Given the description of an element on the screen output the (x, y) to click on. 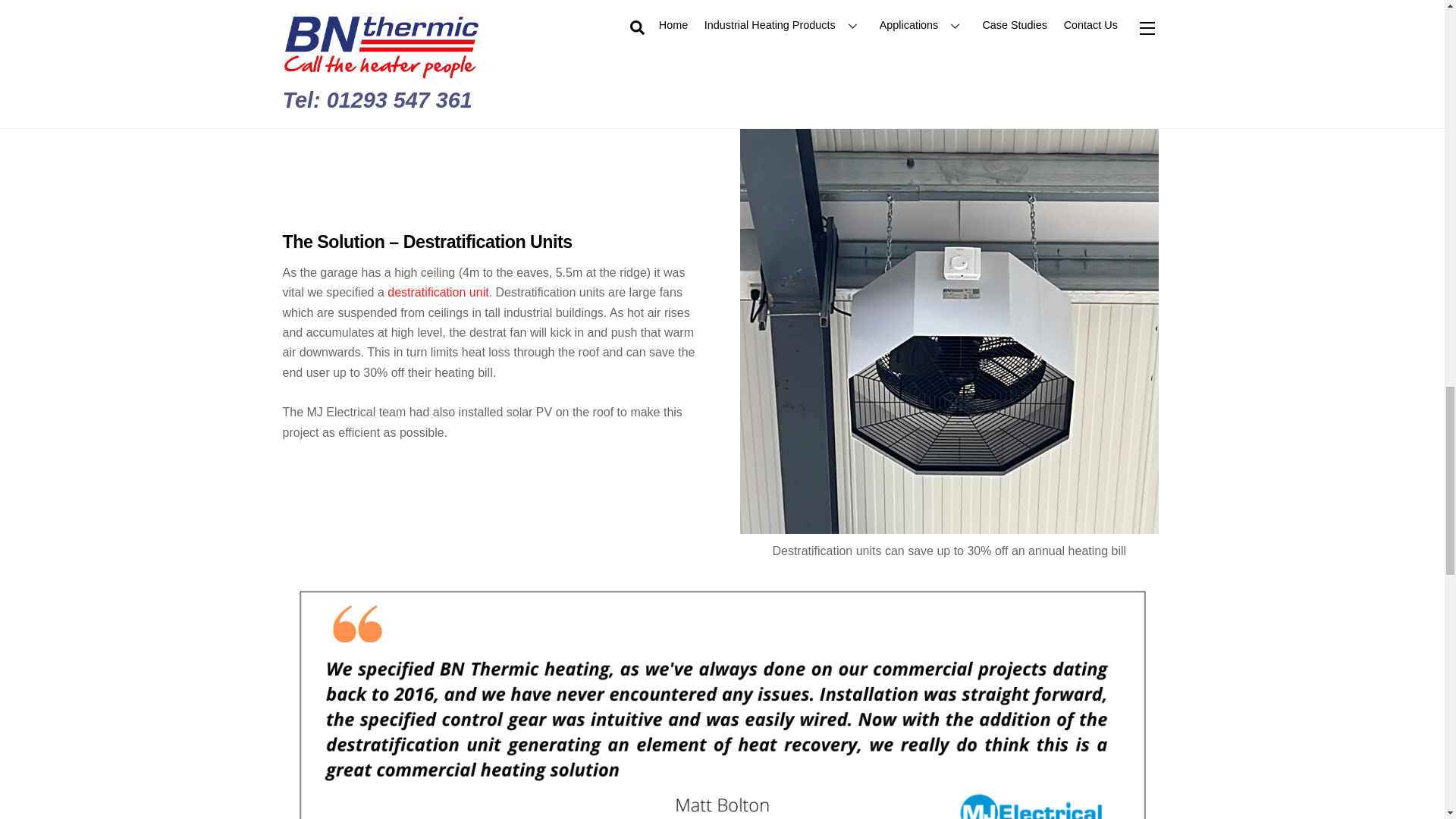
OUH2 side view website (495, 52)
